Given the description of an element on the screen output the (x, y) to click on. 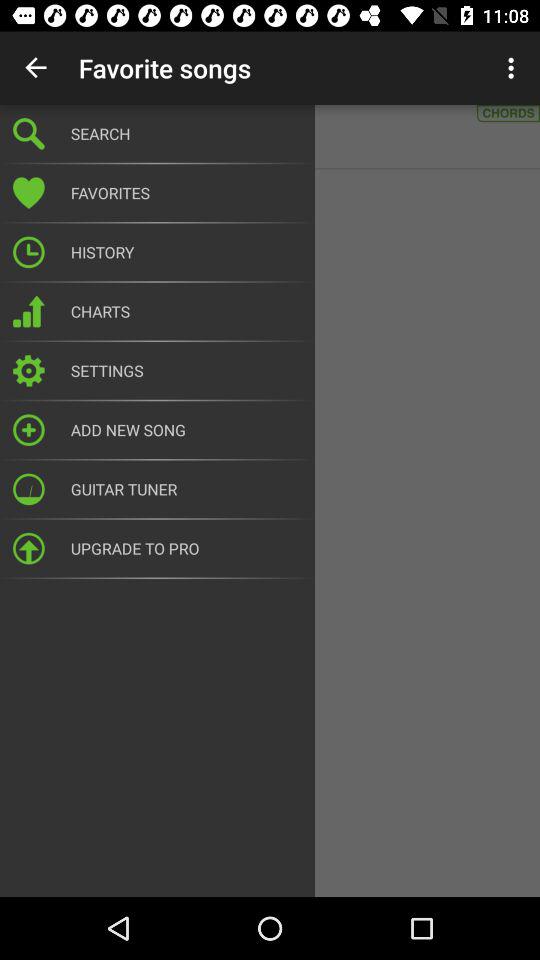
choose the icon to the left of the favorite songs app (36, 68)
